Given the description of an element on the screen output the (x, y) to click on. 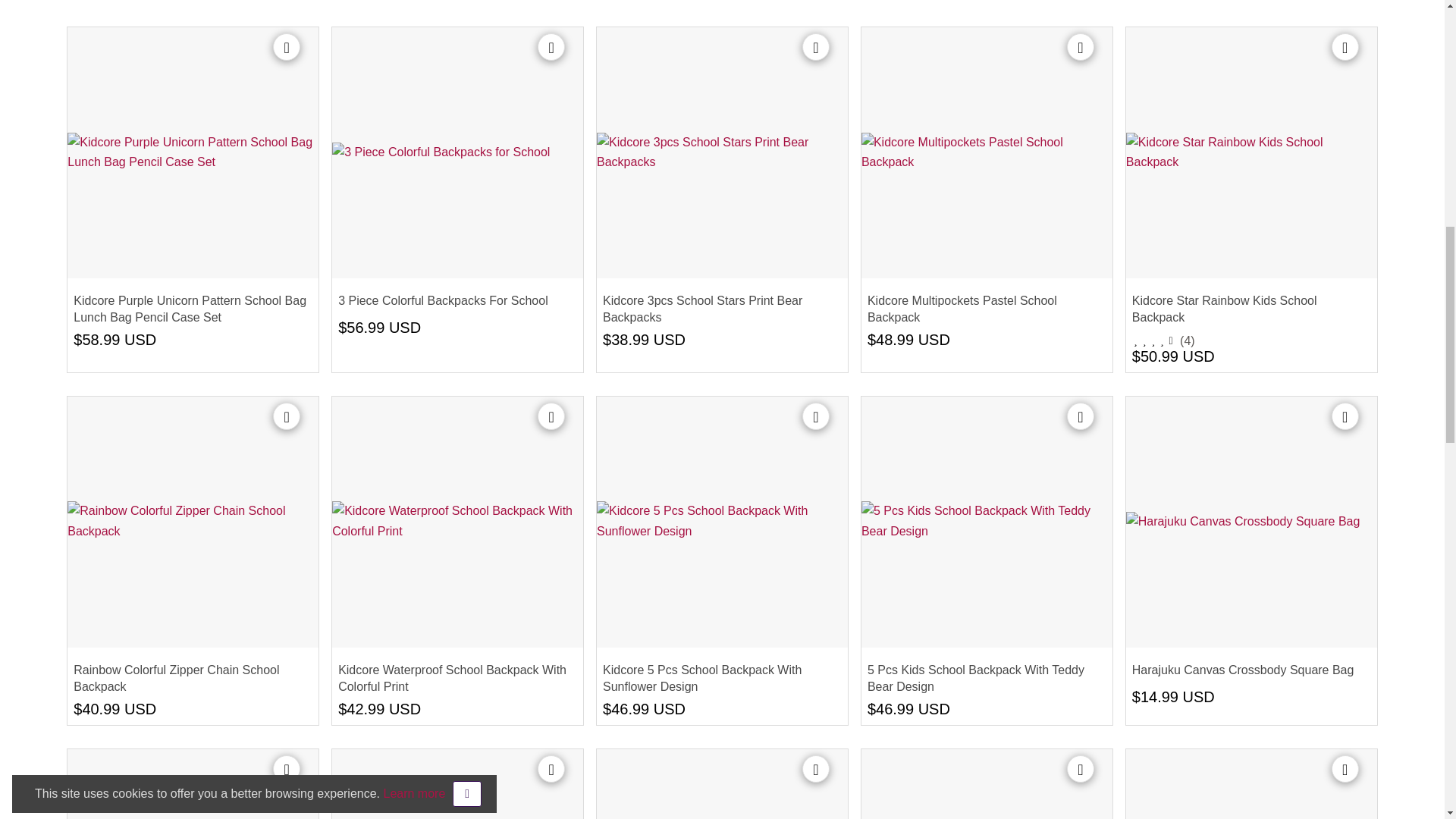
58.99 (100, 339)
USD (139, 339)
